Given the description of an element on the screen output the (x, y) to click on. 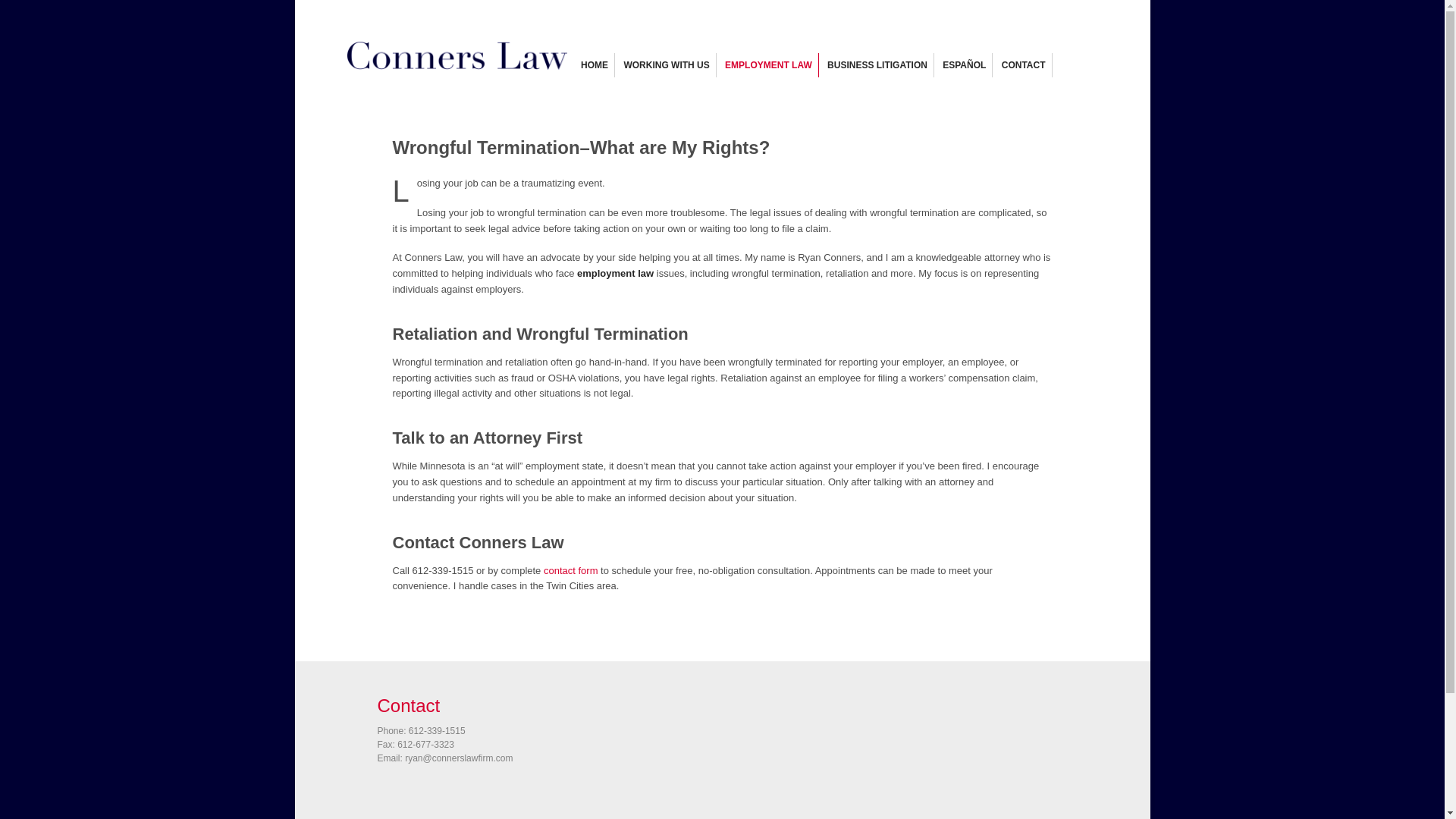
contact form (570, 570)
Twin Cities (457, 66)
EMPLOYMENT LAW (768, 64)
CONTACT (1023, 64)
HOME (594, 64)
BUSINESS LITIGATION (877, 64)
WORKING WITH US (666, 64)
